Given the description of an element on the screen output the (x, y) to click on. 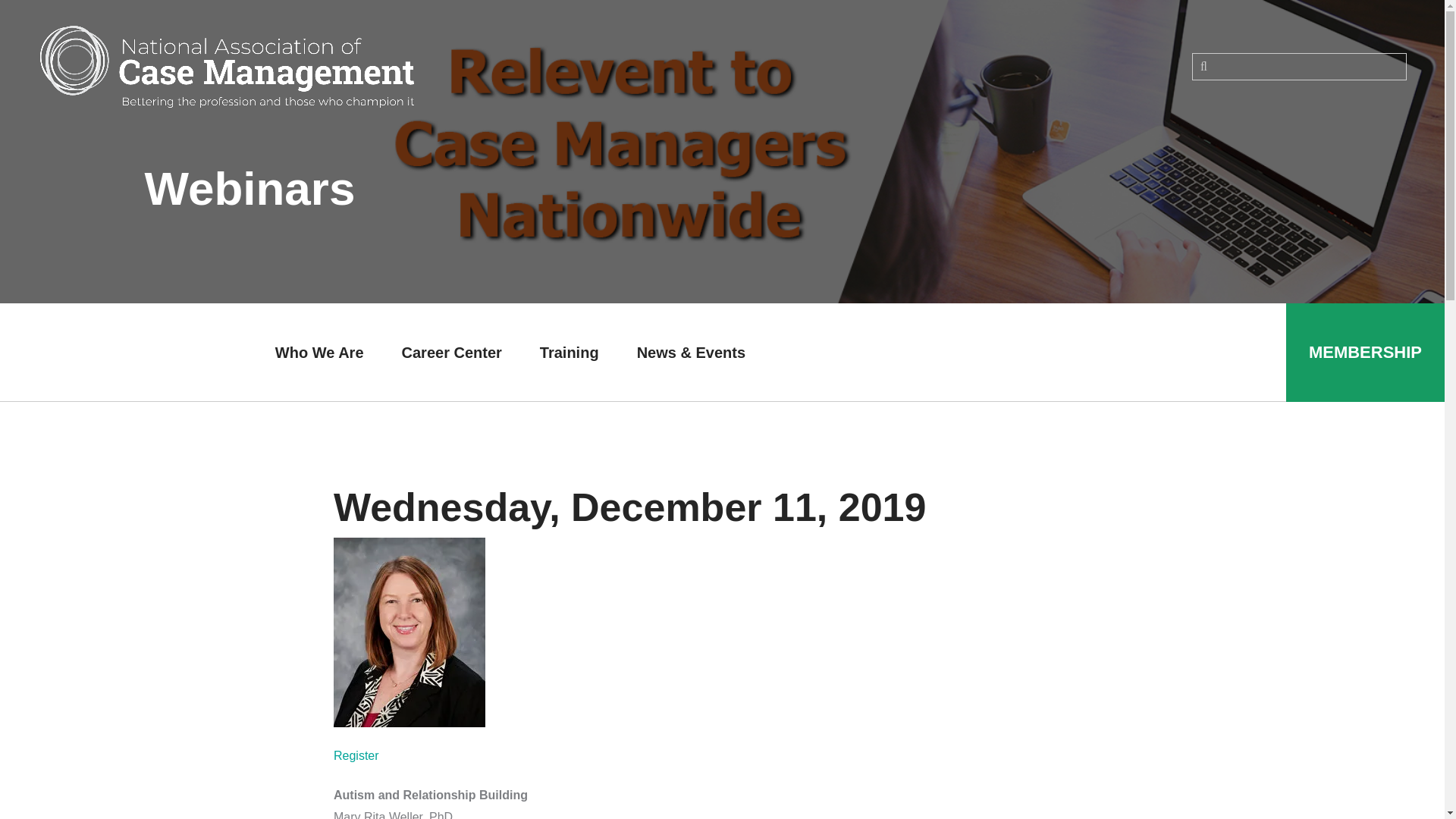
Who We Are (319, 352)
logo (226, 65)
